Given the description of an element on the screen output the (x, y) to click on. 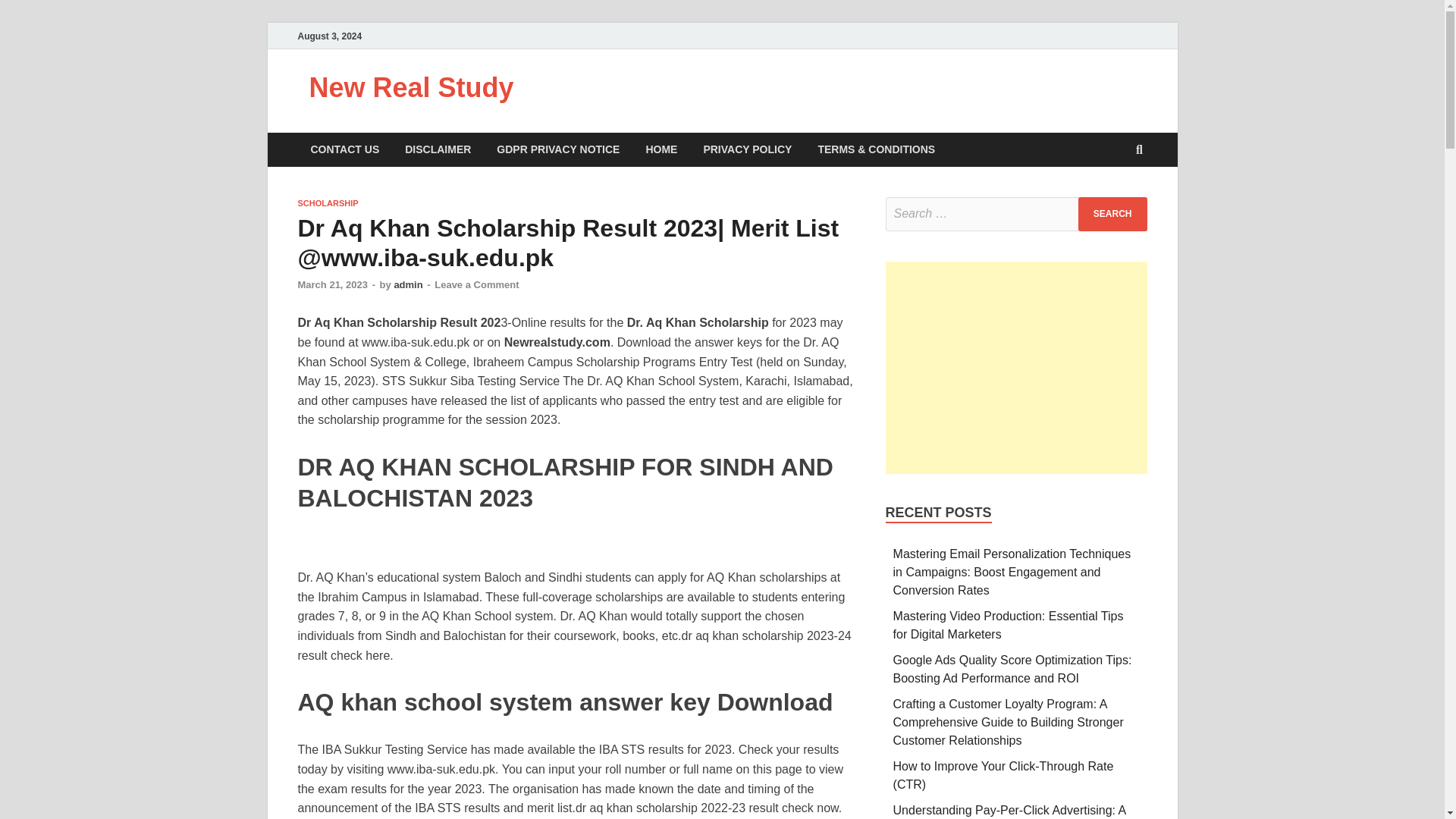
PRIVACY POLICY (747, 149)
SCHOLARSHIP (327, 203)
Search (1112, 213)
admin (407, 284)
New Real Study (410, 87)
DISCLAIMER (437, 149)
